Given the description of an element on the screen output the (x, y) to click on. 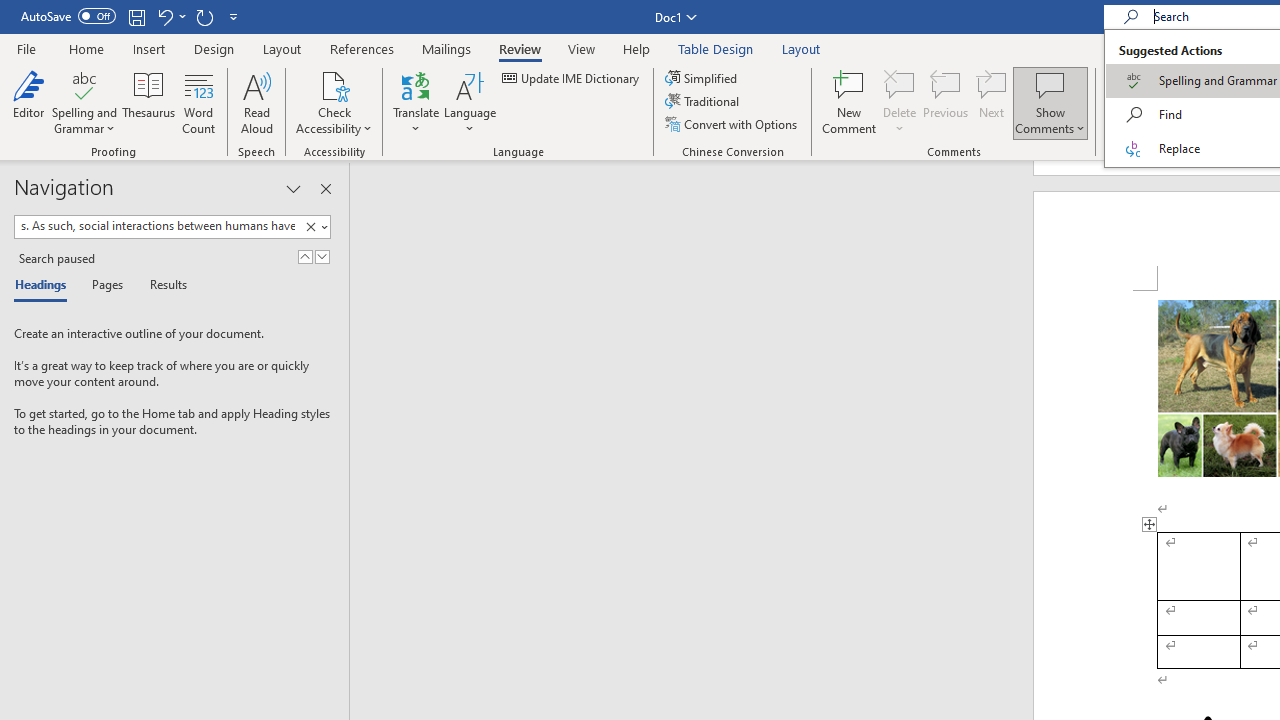
Undo Style (164, 15)
Next Result (322, 256)
Traditional (703, 101)
Table Design (715, 48)
Undo Style (170, 15)
Convert with Options... (732, 124)
AutoSave (68, 16)
Repeat Style (204, 15)
File Tab (26, 48)
Delete (900, 84)
Spelling and Grammar (84, 102)
Read Aloud (256, 102)
Previous Result (304, 256)
Translate (415, 102)
Track Changes (1134, 84)
